Given the description of an element on the screen output the (x, y) to click on. 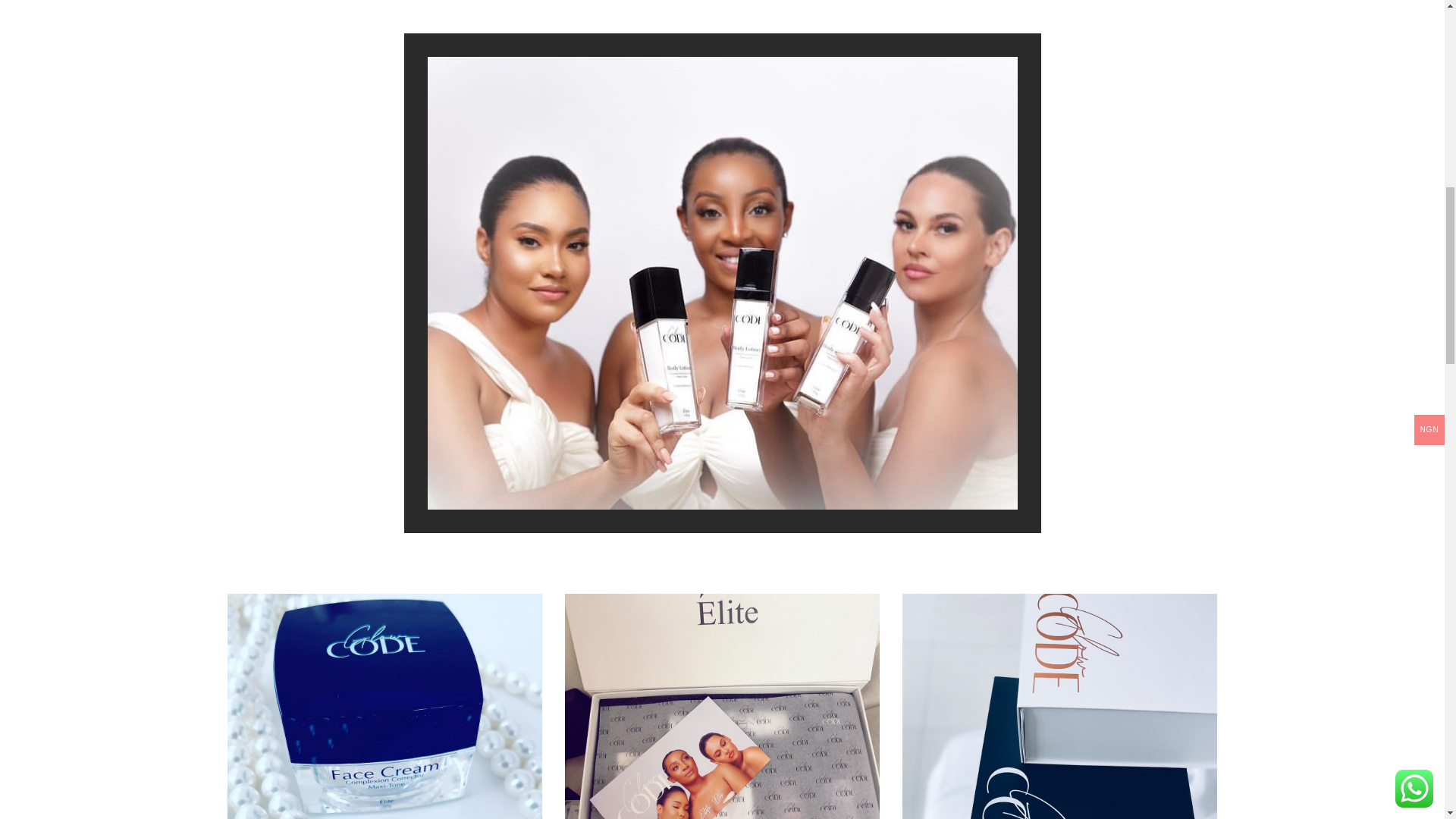
glow-code-3 (384, 706)
glow-code-1 (721, 706)
glow-code-2 (1059, 706)
